Given the description of an element on the screen output the (x, y) to click on. 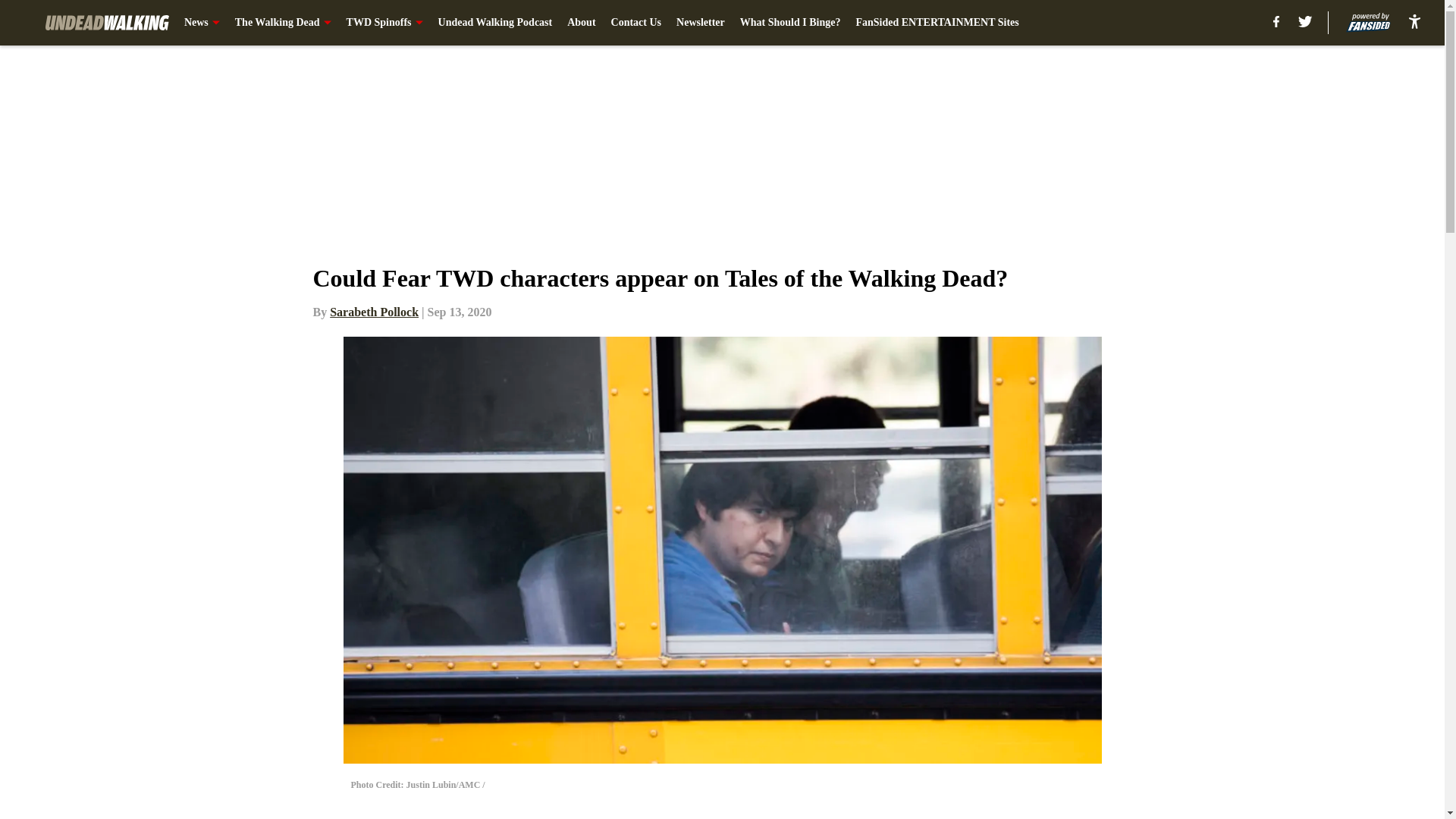
Undead Walking Podcast (495, 22)
Newsletter (701, 22)
FanSided ENTERTAINMENT Sites (936, 22)
Contact Us (636, 22)
About (581, 22)
Sarabeth Pollock (374, 311)
What Should I Binge? (790, 22)
